Given the description of an element on the screen output the (x, y) to click on. 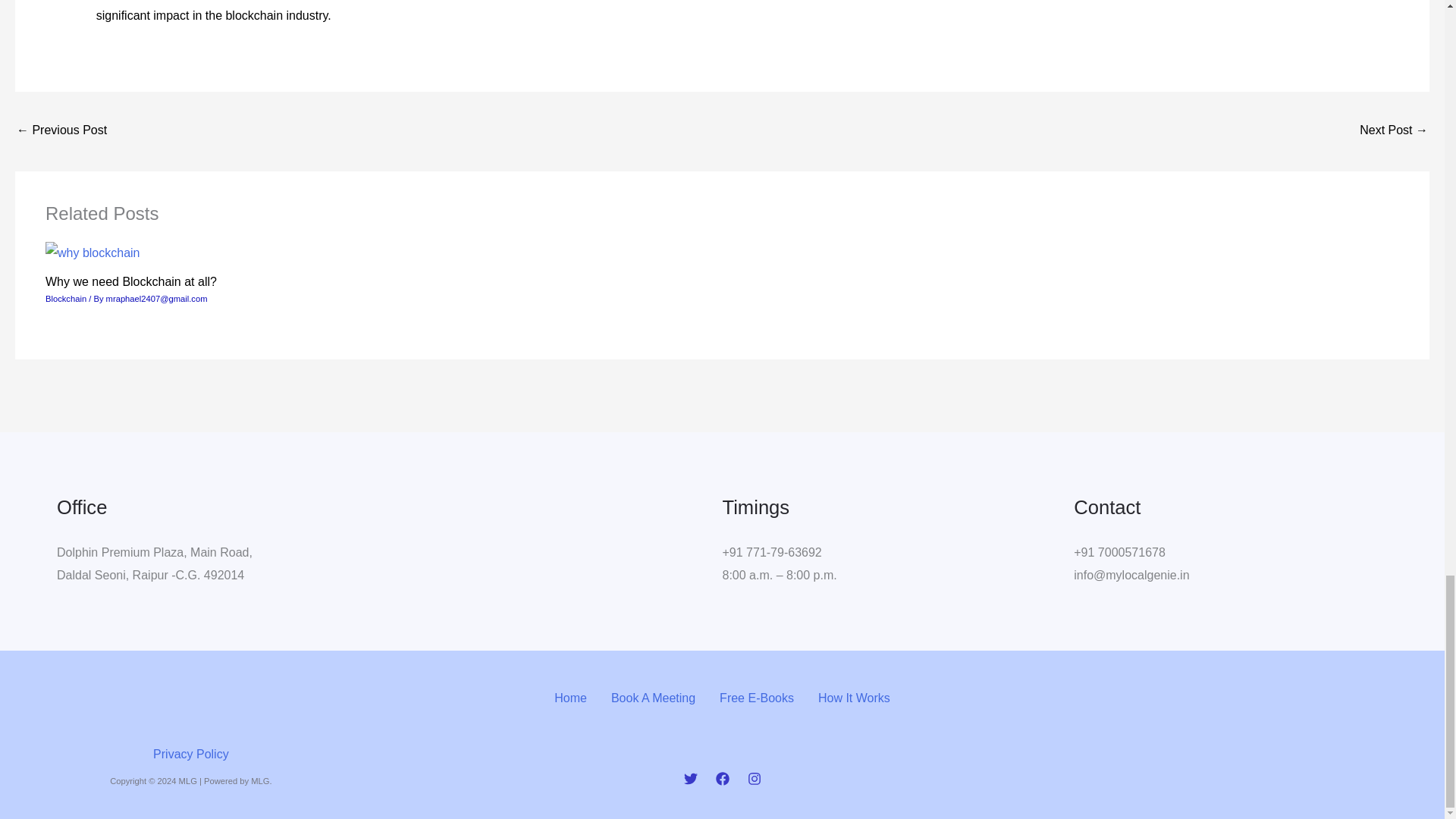
Free E-Books (756, 698)
Home (569, 698)
Why we need Blockchain at all? (130, 281)
Book A Meeting (652, 698)
How AI is Transforming the Way We Work (61, 131)
Blockchain (65, 298)
Spoken English Classes in Raipur: Understanding the Fees (1393, 131)
How It Works (854, 698)
Privacy Policy (190, 753)
